Given the description of an element on the screen output the (x, y) to click on. 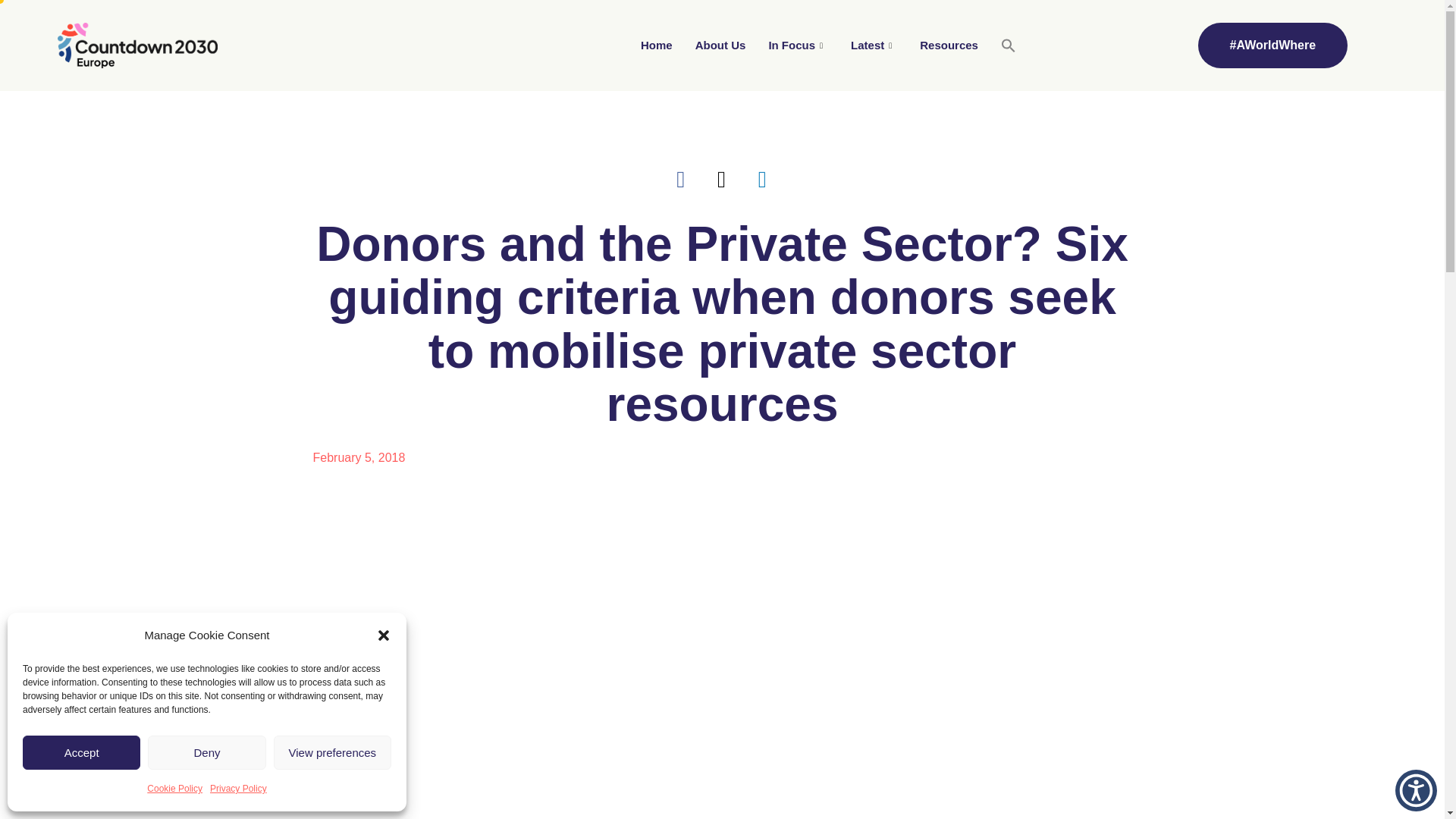
View preferences (332, 752)
Latest (874, 45)
Cookie Policy (174, 788)
Home (656, 45)
About Us (720, 45)
Resources (949, 45)
In Focus (798, 45)
Accept (81, 752)
Deny (206, 752)
Privacy Policy (237, 788)
